Given the description of an element on the screen output the (x, y) to click on. 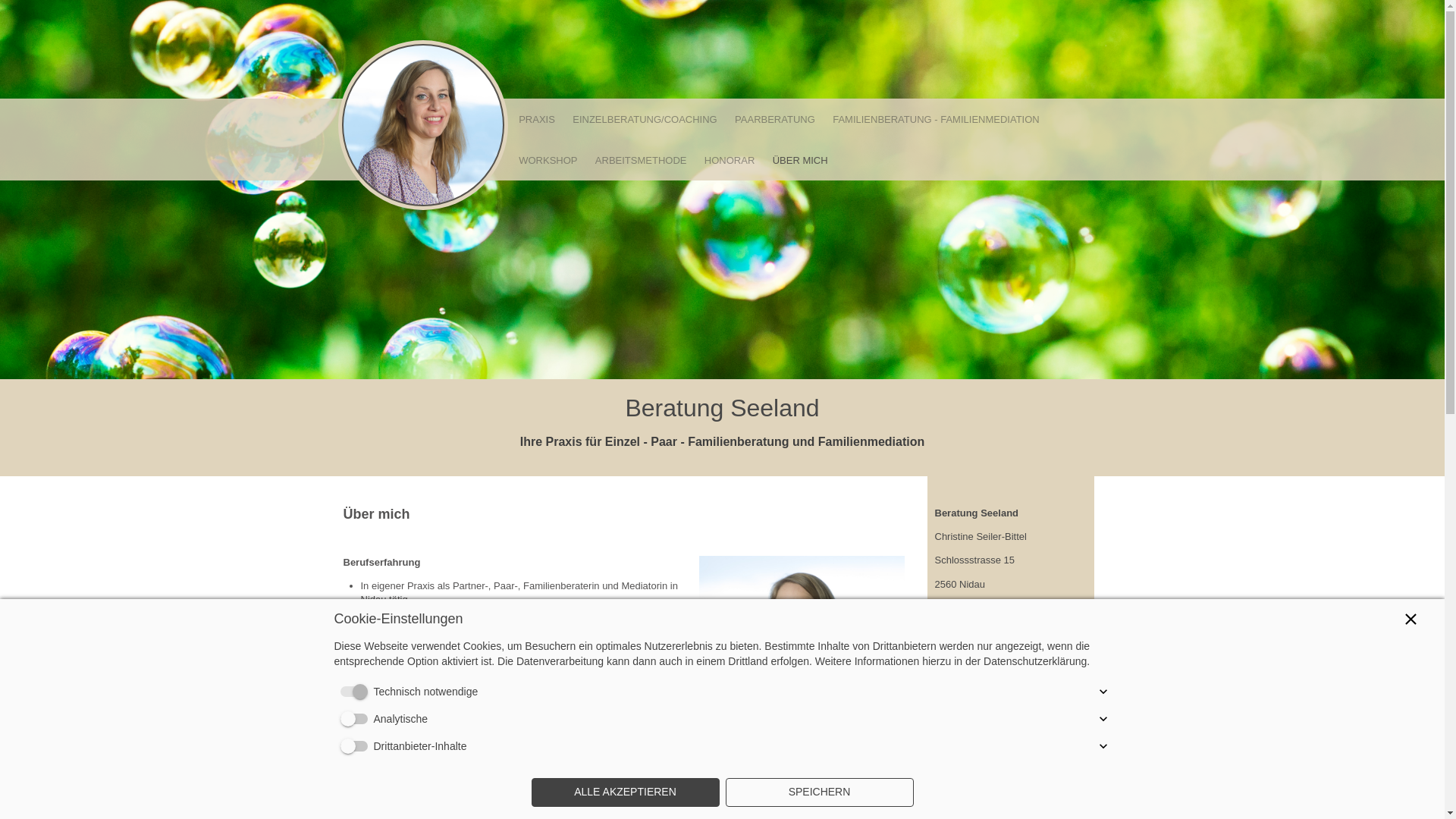
PAARBERATUNG Element type: text (774, 118)
kontakt@beratung-seeland.ch Element type: text (1000, 631)
EINZELBERATUNG/COACHING Element type: text (645, 118)
HONORAR Element type: text (729, 159)
WORKSHOP Element type: text (547, 159)
  Element type: text (422, 124)
ARBEITSMETHODE Element type: text (640, 159)
FAMILIENBERATUNG - FAMILIENMEDIATION Element type: text (935, 118)
ALLE AKZEPTIEREN Element type: text (624, 792)
PRAXIS Element type: text (536, 118)
SPEICHERN Element type: text (818, 792)
